Given the description of an element on the screen output the (x, y) to click on. 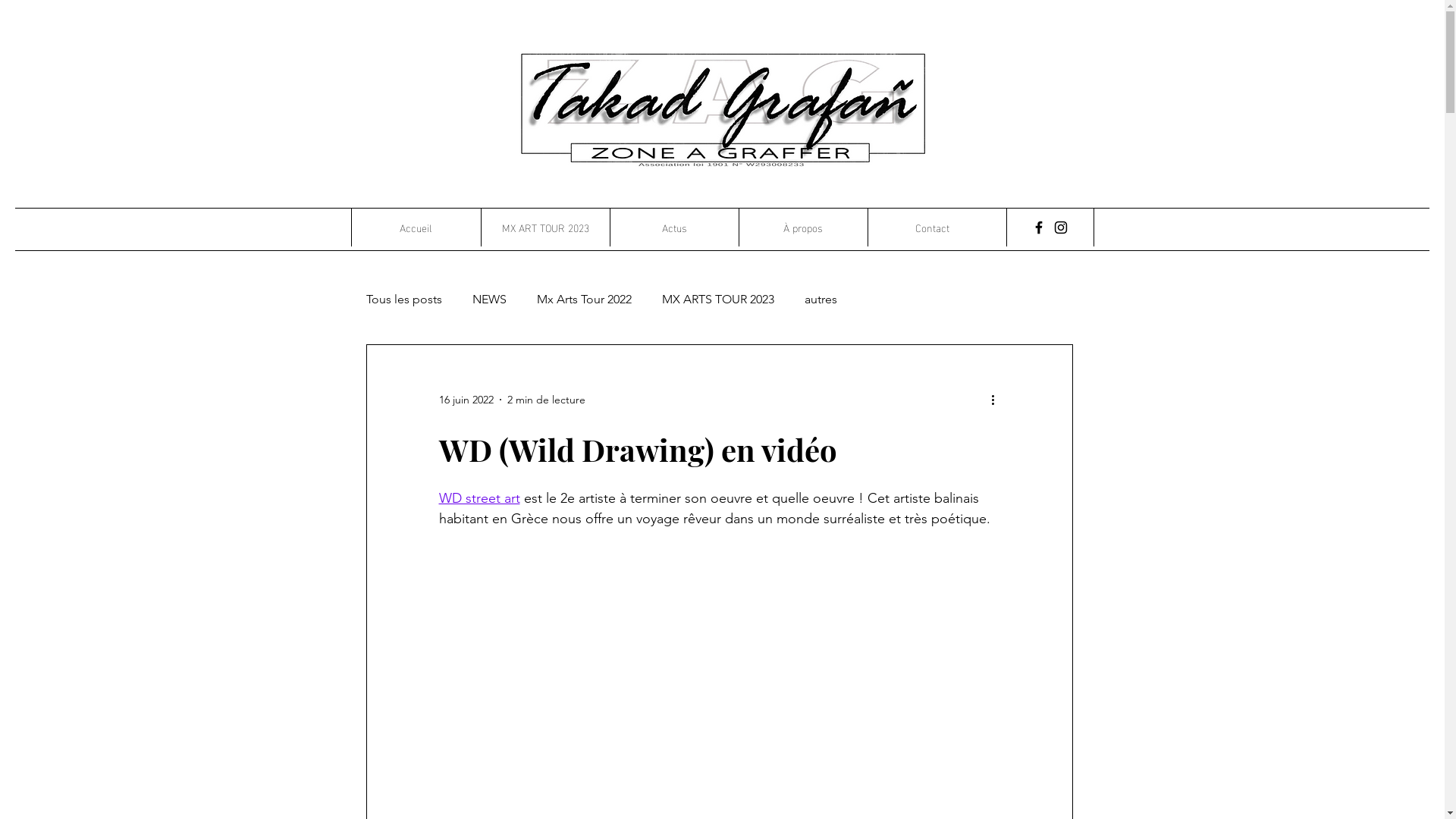
Tous les posts Element type: text (403, 298)
Accueil Element type: text (415, 227)
Contact Element type: text (931, 227)
NEWS Element type: text (488, 298)
Mx Arts Tour 2022 Element type: text (583, 298)
MX ARTS TOUR 2023 Element type: text (717, 298)
MX ART TOUR 2023 Element type: text (544, 227)
WD street art Element type: text (478, 497)
Actus Element type: text (673, 227)
autres Element type: text (819, 298)
